Given the description of an element on the screen output the (x, y) to click on. 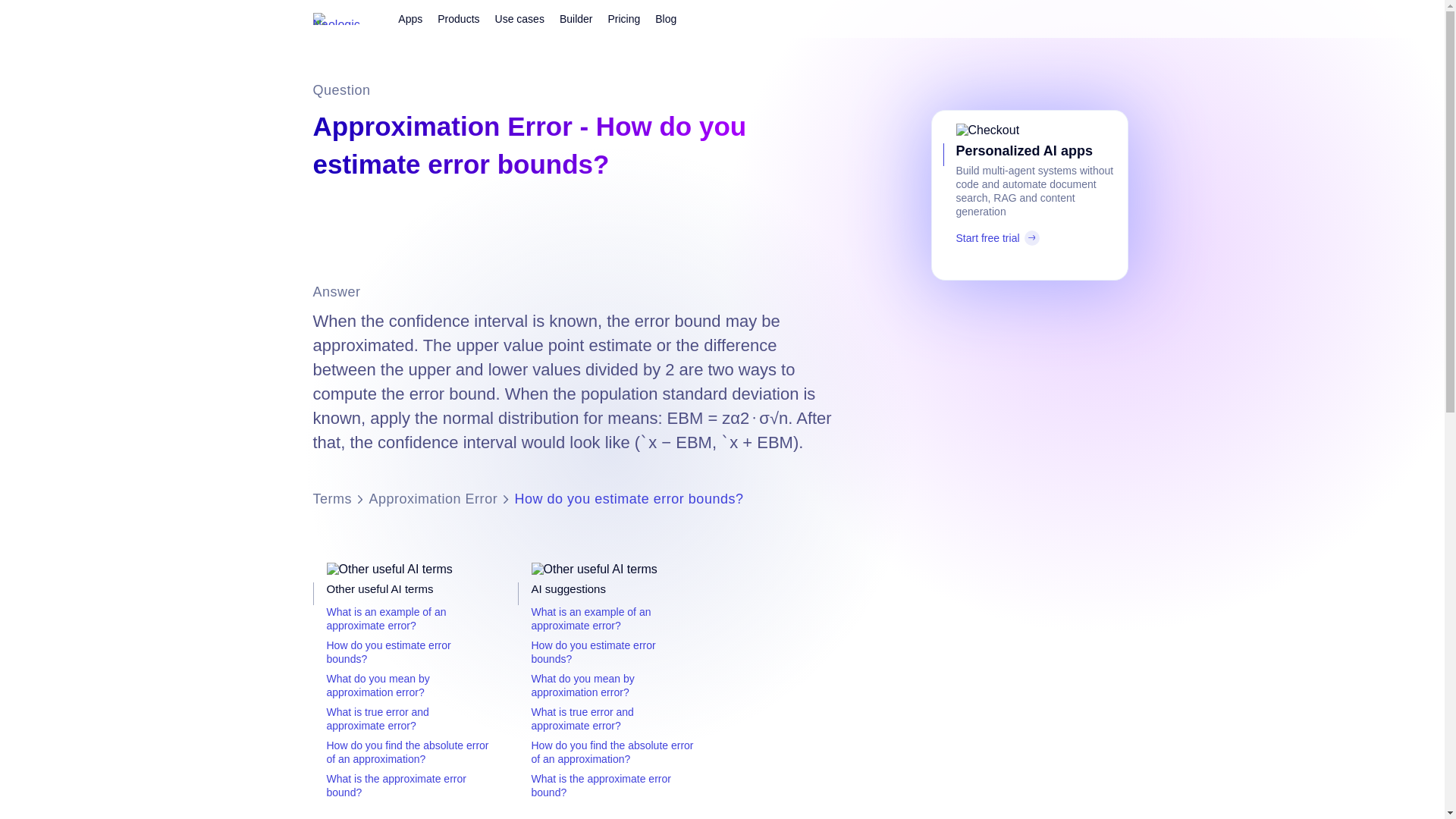
Apps (409, 18)
Products (457, 18)
Pricing (623, 18)
Apps (409, 18)
Terms (332, 498)
Builder (575, 18)
Use cases (519, 18)
Pricing (623, 18)
Blog (665, 18)
Builder (575, 18)
